Given the description of an element on the screen output the (x, y) to click on. 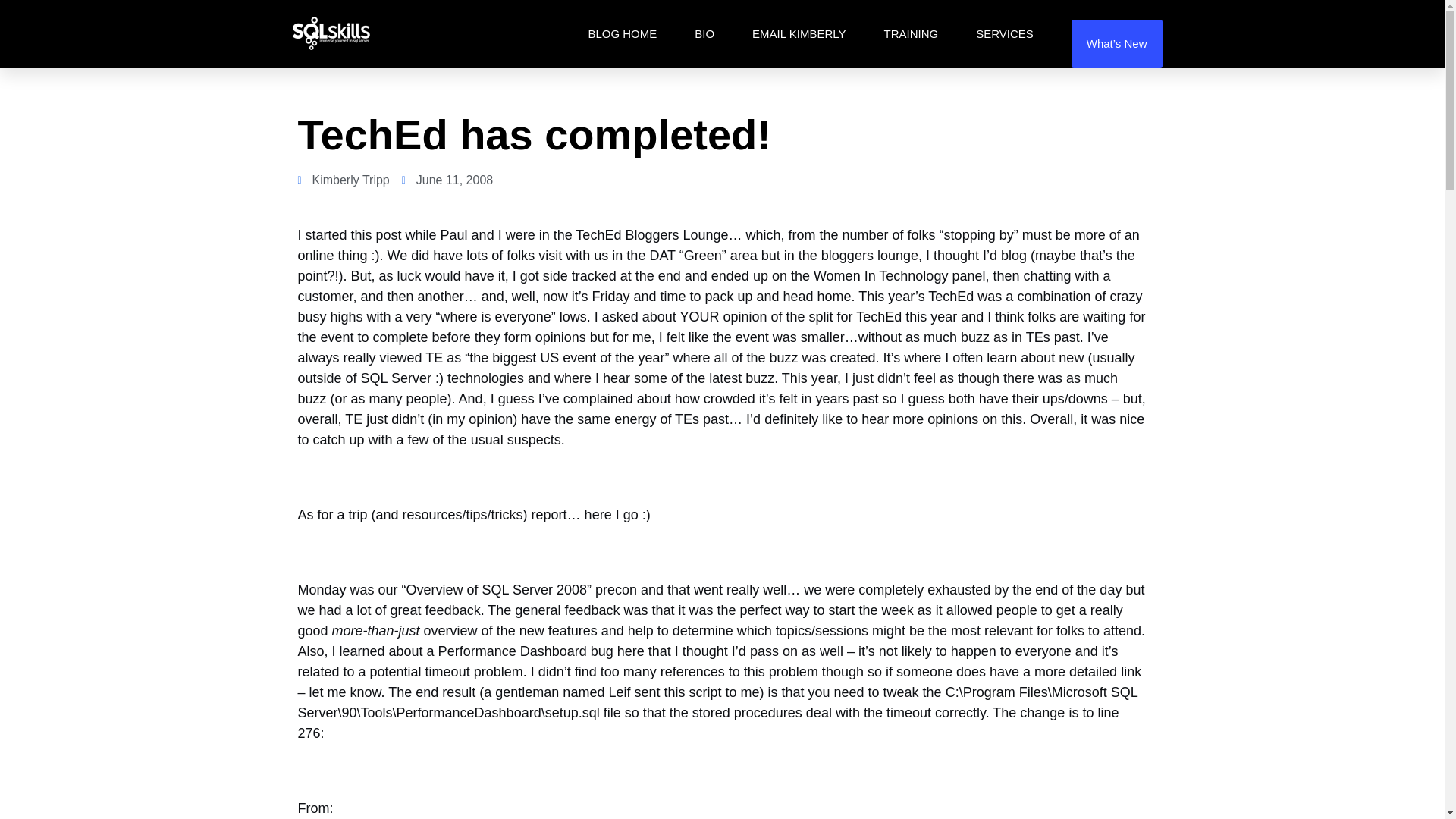
SERVICES (1004, 33)
BLOG HOME (622, 33)
BIO (704, 33)
June 11, 2008 (447, 180)
TRAINING (910, 33)
Kimberly Tripp (342, 180)
EMAIL KIMBERLY (798, 33)
